Given the description of an element on the screen output the (x, y) to click on. 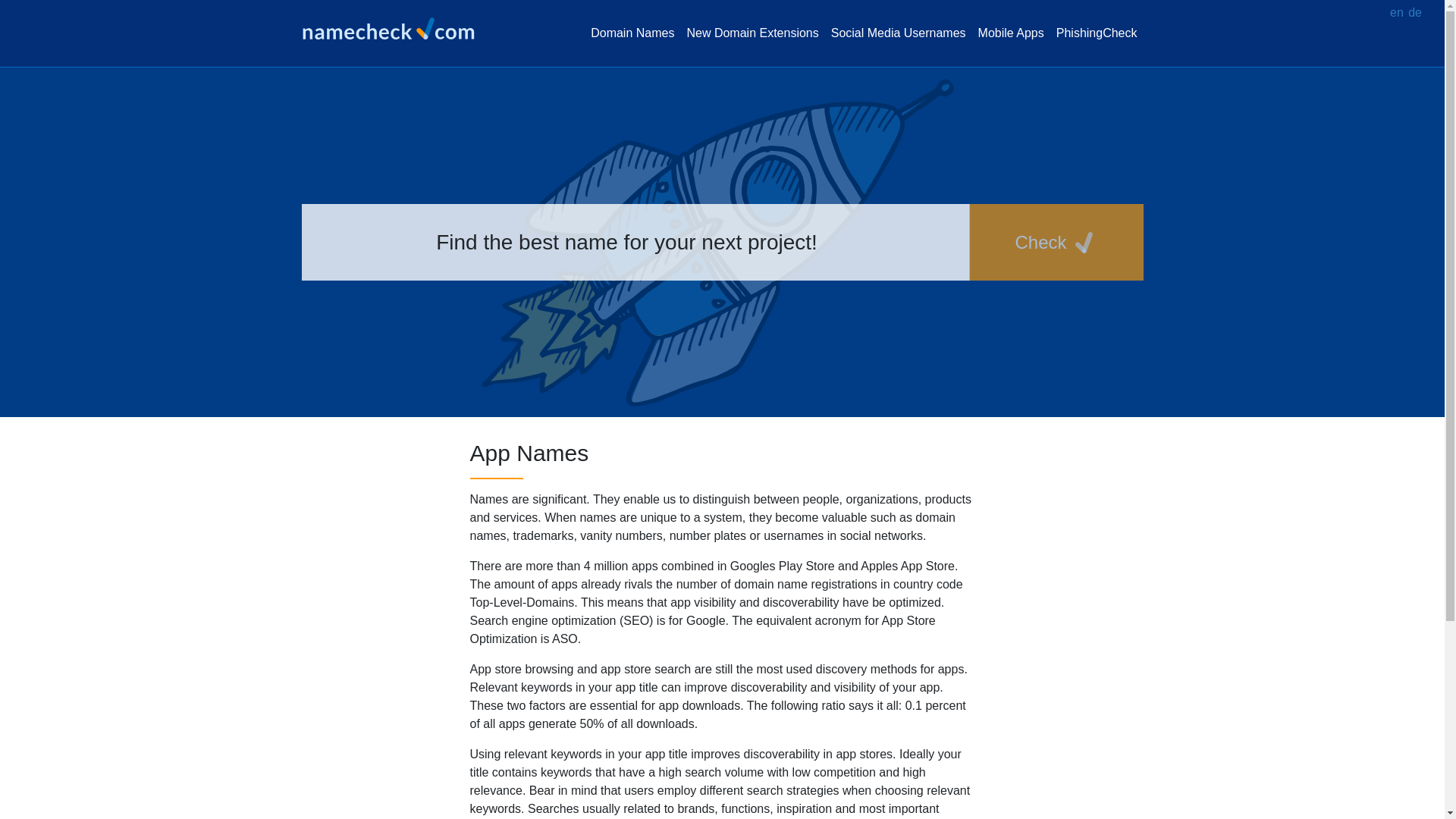
New Domain Extensions (751, 33)
Social Media Usernames (898, 33)
PhishingCheck (1095, 33)
PhishingCheck (1095, 33)
Check (1055, 241)
Domain Names (632, 33)
namecheck.com Startseite (393, 28)
Mobile Apps (1010, 33)
New Domain Extensions (751, 33)
Domain Names (632, 33)
Mobile Apps (1010, 33)
Social Media Usernames (898, 33)
